Given the description of an element on the screen output the (x, y) to click on. 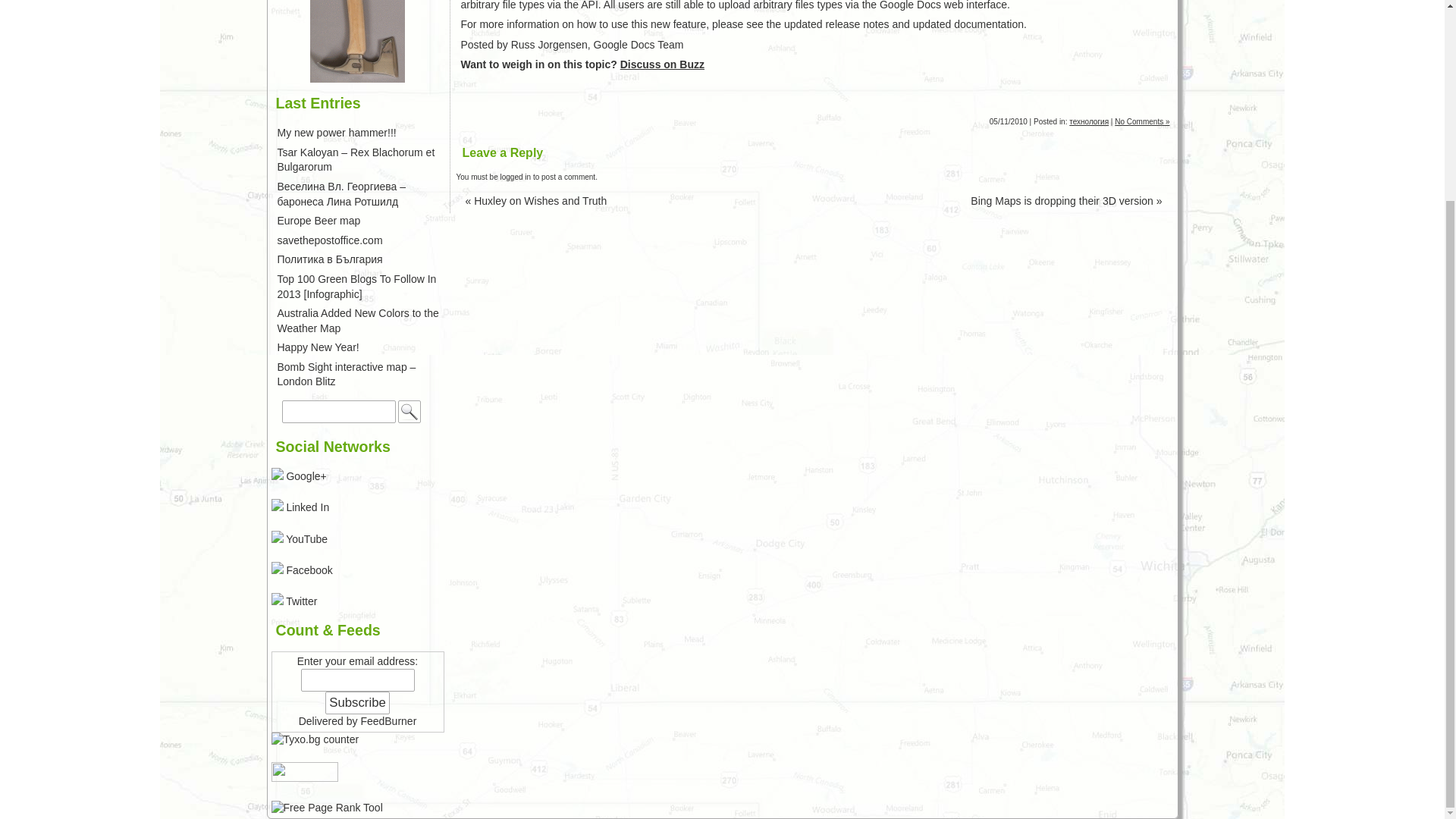
Subscribe (357, 702)
Happy New Year! (318, 346)
FeedBurner (387, 720)
YouTube (299, 539)
Linked In (300, 507)
Search (408, 411)
Subscribe (357, 702)
Discuss on Buzz (662, 64)
savethepostoffice.com (330, 240)
Search (408, 411)
Facebook (301, 570)
My new power hammer!!! (337, 132)
Twitter (293, 601)
logged in (515, 176)
Europe Beer map (319, 220)
